Given the description of an element on the screen output the (x, y) to click on. 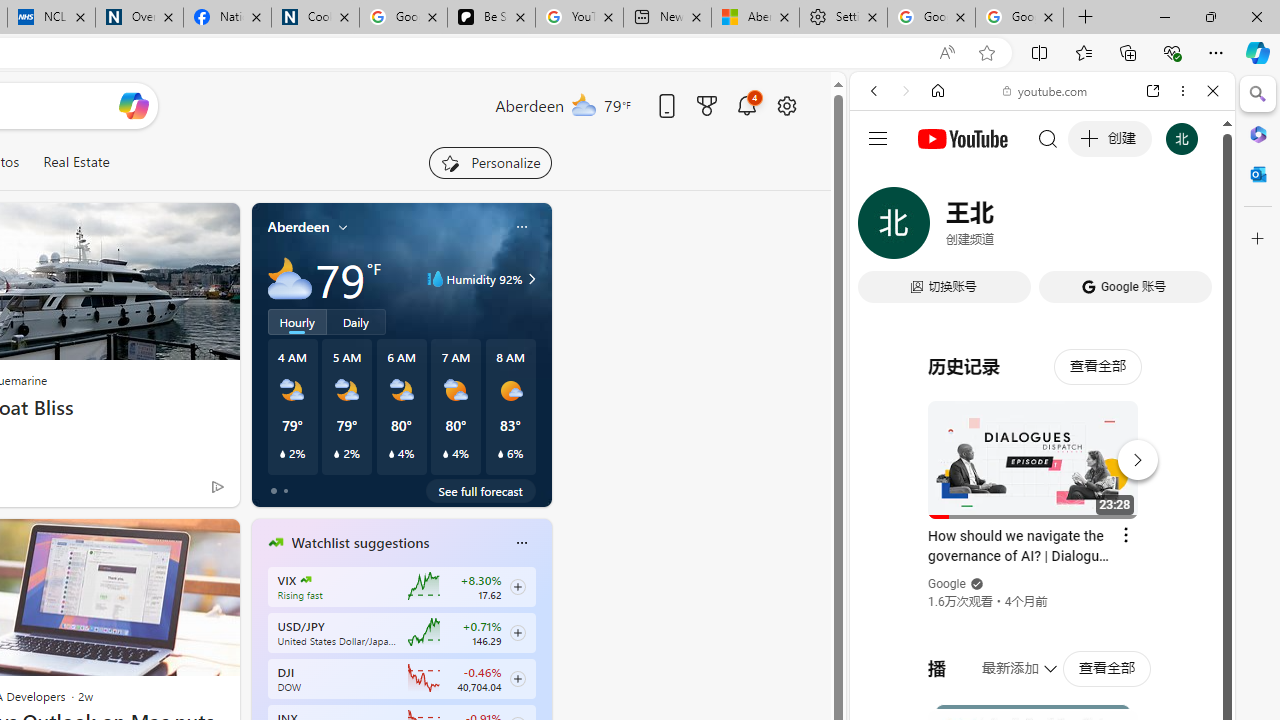
previous (261, 670)
Search Filter, VIDEOS (1006, 228)
#you (1042, 445)
Trailer #2 [HD] (1042, 592)
#you (1042, 445)
Open Copilot (132, 105)
Open Copilot (132, 105)
